Given the description of an element on the screen output the (x, y) to click on. 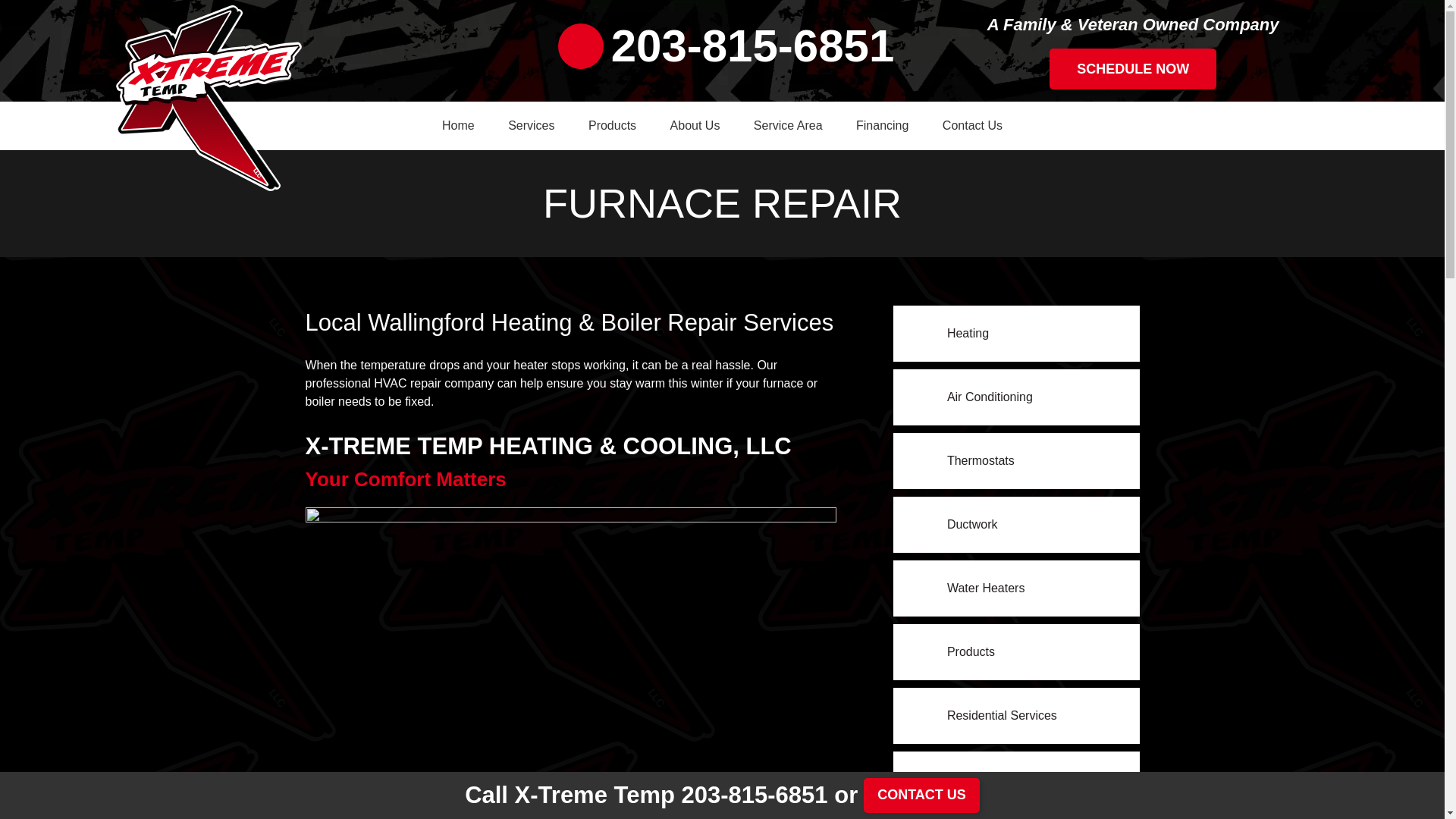
Financing (882, 125)
Thermostats (1016, 460)
Heating (1016, 333)
SCHEDULE NOW (1132, 68)
Service Area (788, 125)
About Us (695, 125)
Products (611, 125)
203-815-6851 (726, 46)
Contact Us (972, 125)
Services (531, 125)
Home (457, 125)
Air Conditioning (1016, 397)
